Given the description of an element on the screen output the (x, y) to click on. 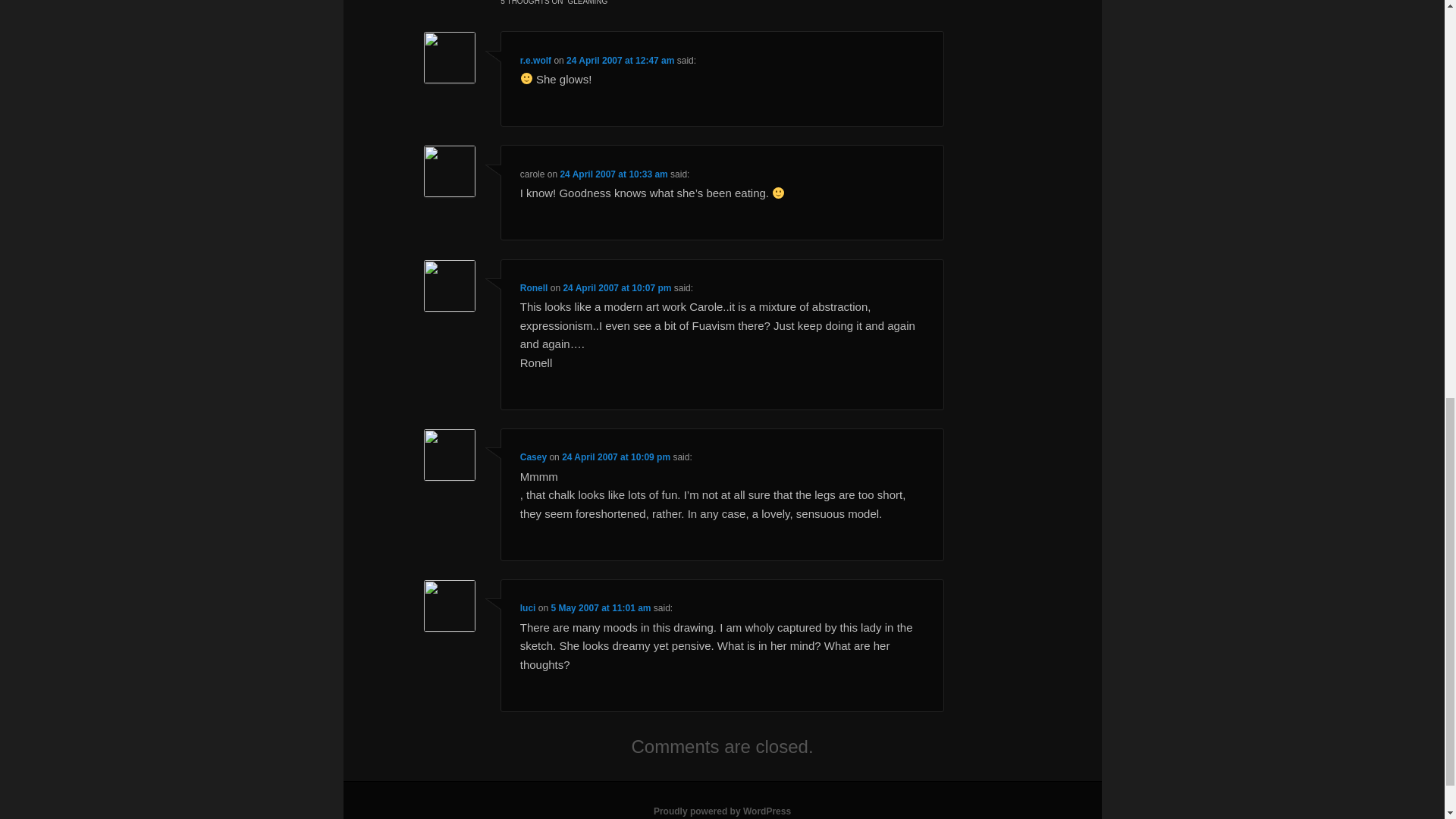
24 April 2007 at 12:47 am (620, 60)
Proudly powered by WordPress (721, 810)
Casey (533, 457)
Ronell (533, 287)
Semantic Personal Publishing Platform (721, 810)
luci (527, 607)
r.e.wolf (535, 60)
24 April 2007 at 10:09 pm (615, 457)
24 April 2007 at 10:33 am (612, 173)
5 May 2007 at 11:01 am (600, 607)
24 April 2007 at 10:07 pm (616, 287)
